Given the description of an element on the screen output the (x, y) to click on. 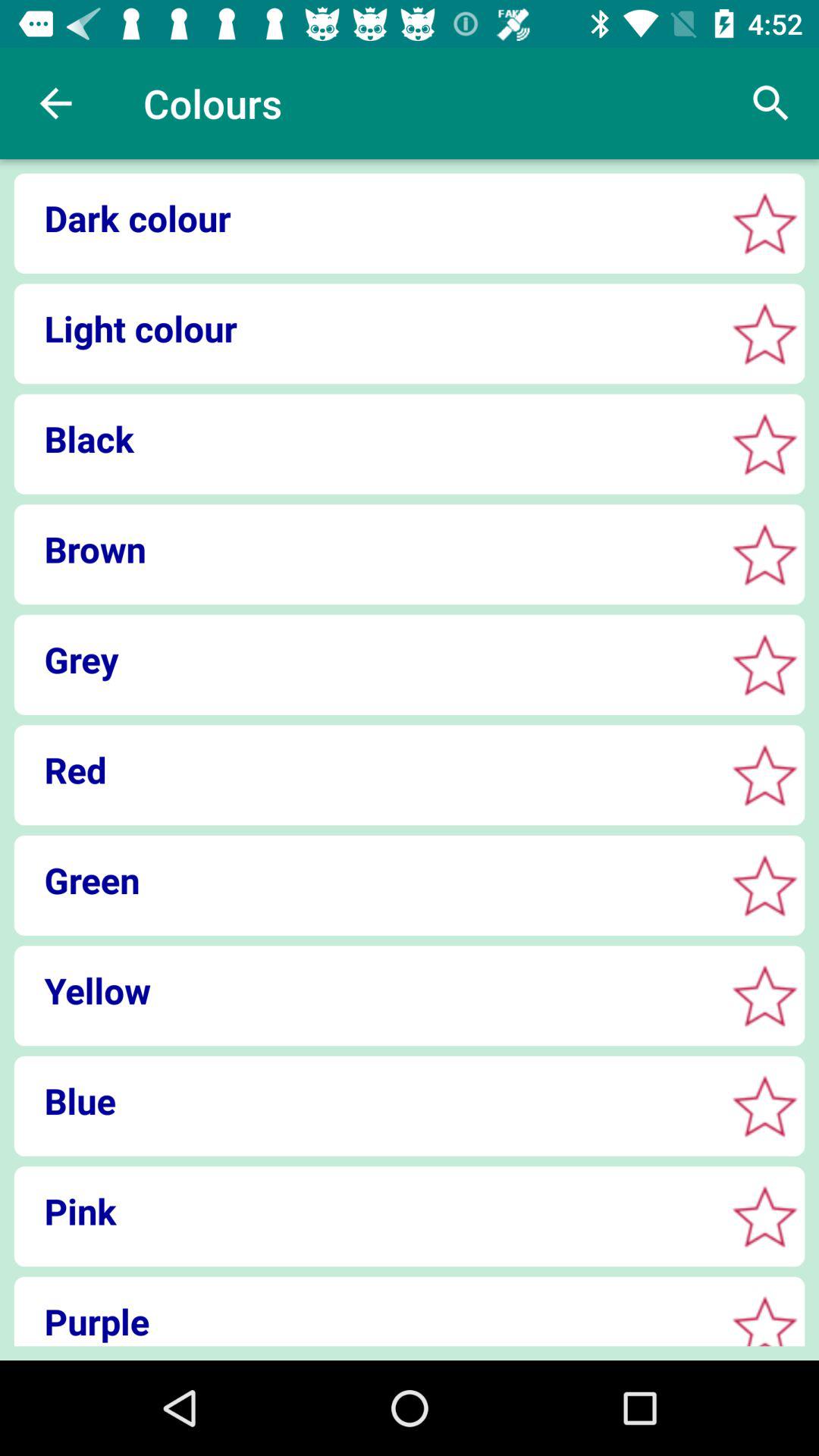
select black (764, 444)
